Given the description of an element on the screen output the (x, y) to click on. 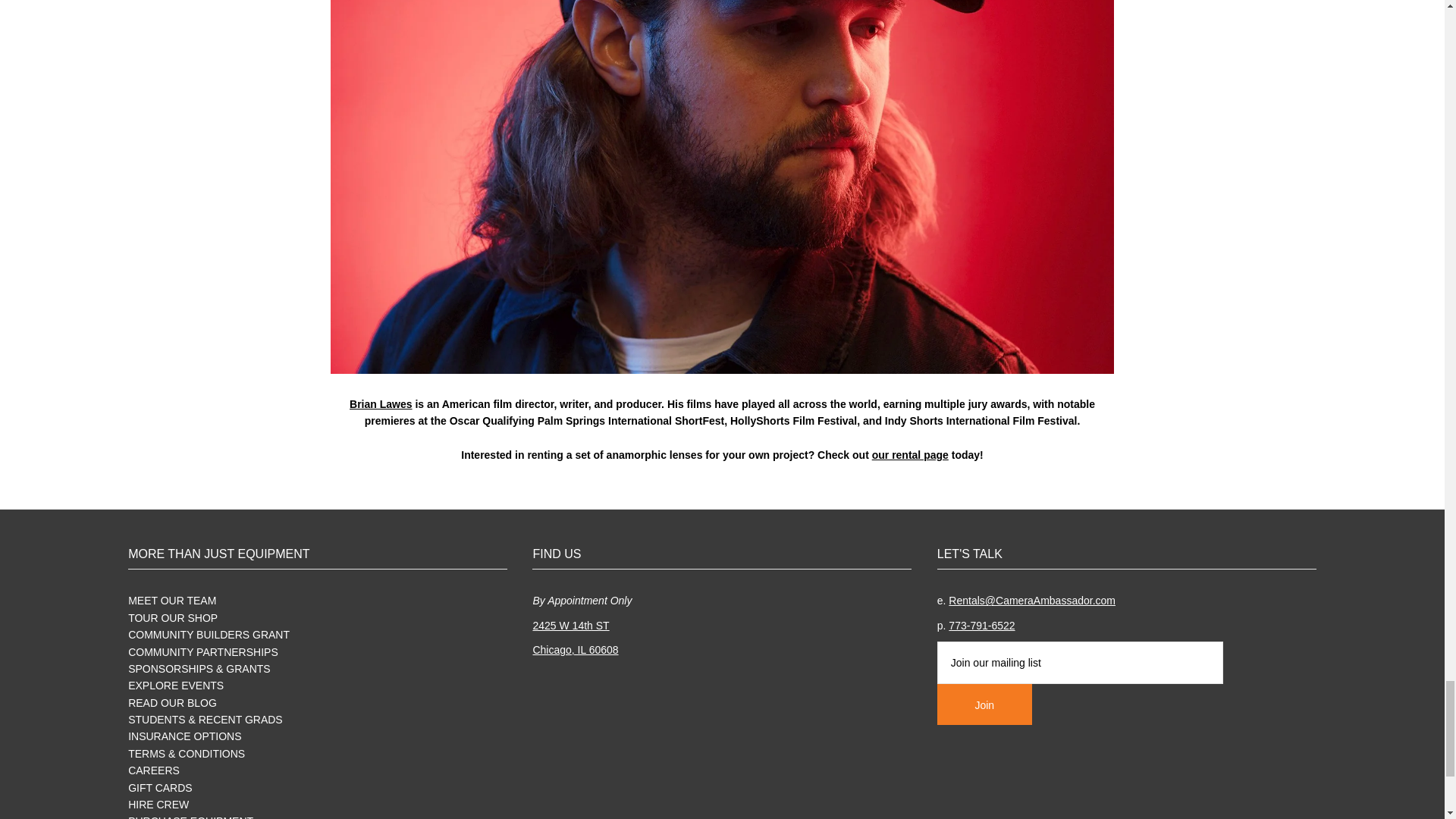
Join (984, 703)
